Given the description of an element on the screen output the (x, y) to click on. 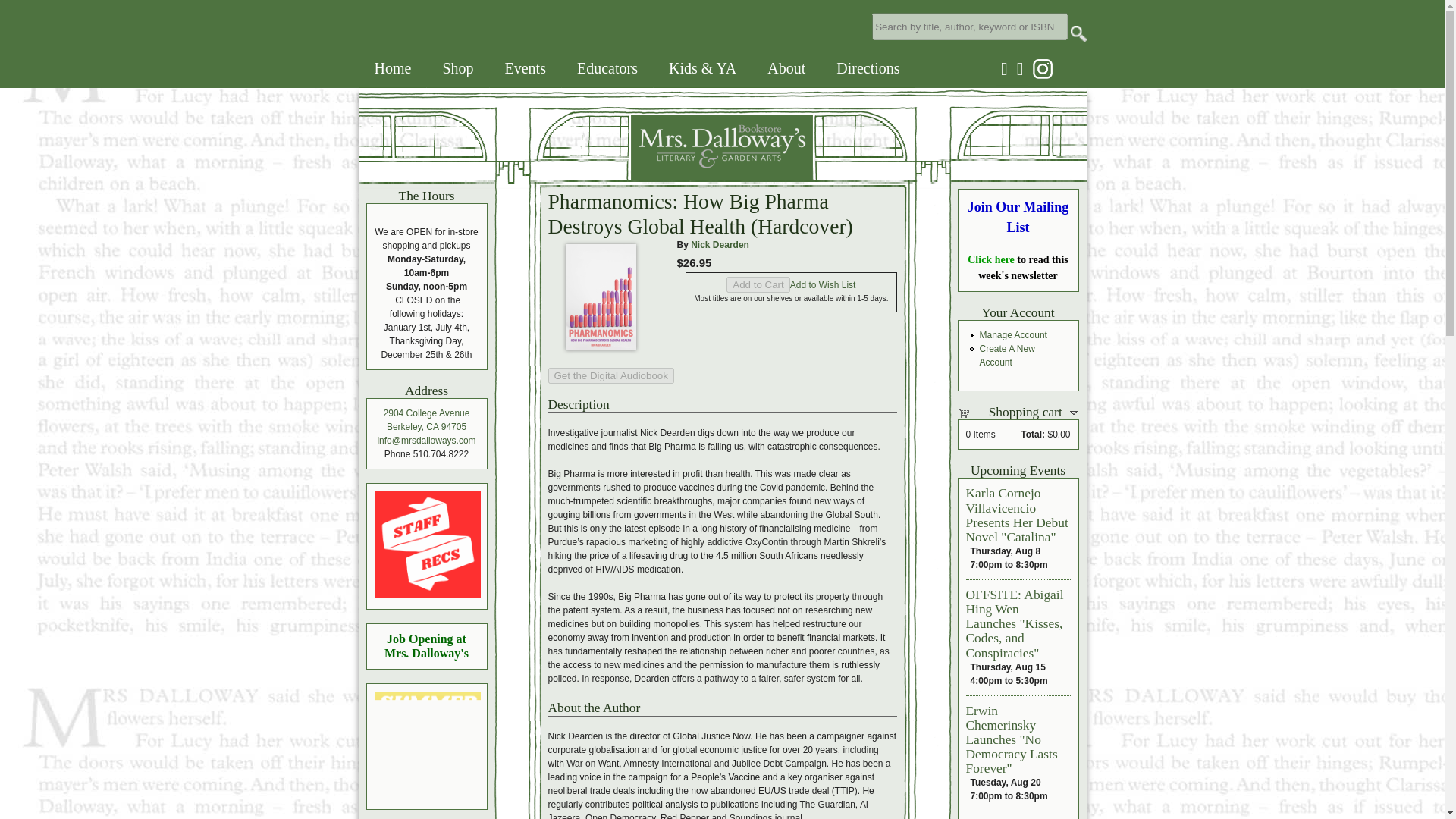
About (786, 68)
Directions (867, 68)
Home (392, 68)
Home (585, 176)
Get the Digital Audiobook (609, 375)
Add to Cart (757, 284)
Add to Cart (757, 284)
Nick Dearden (719, 244)
Events (524, 68)
Educators (607, 68)
View your shopping cart. (968, 412)
Get the Digital Audiobook (609, 375)
Shop (456, 68)
Enter the terms you wish to search for. (969, 26)
